Given the description of an element on the screen output the (x, y) to click on. 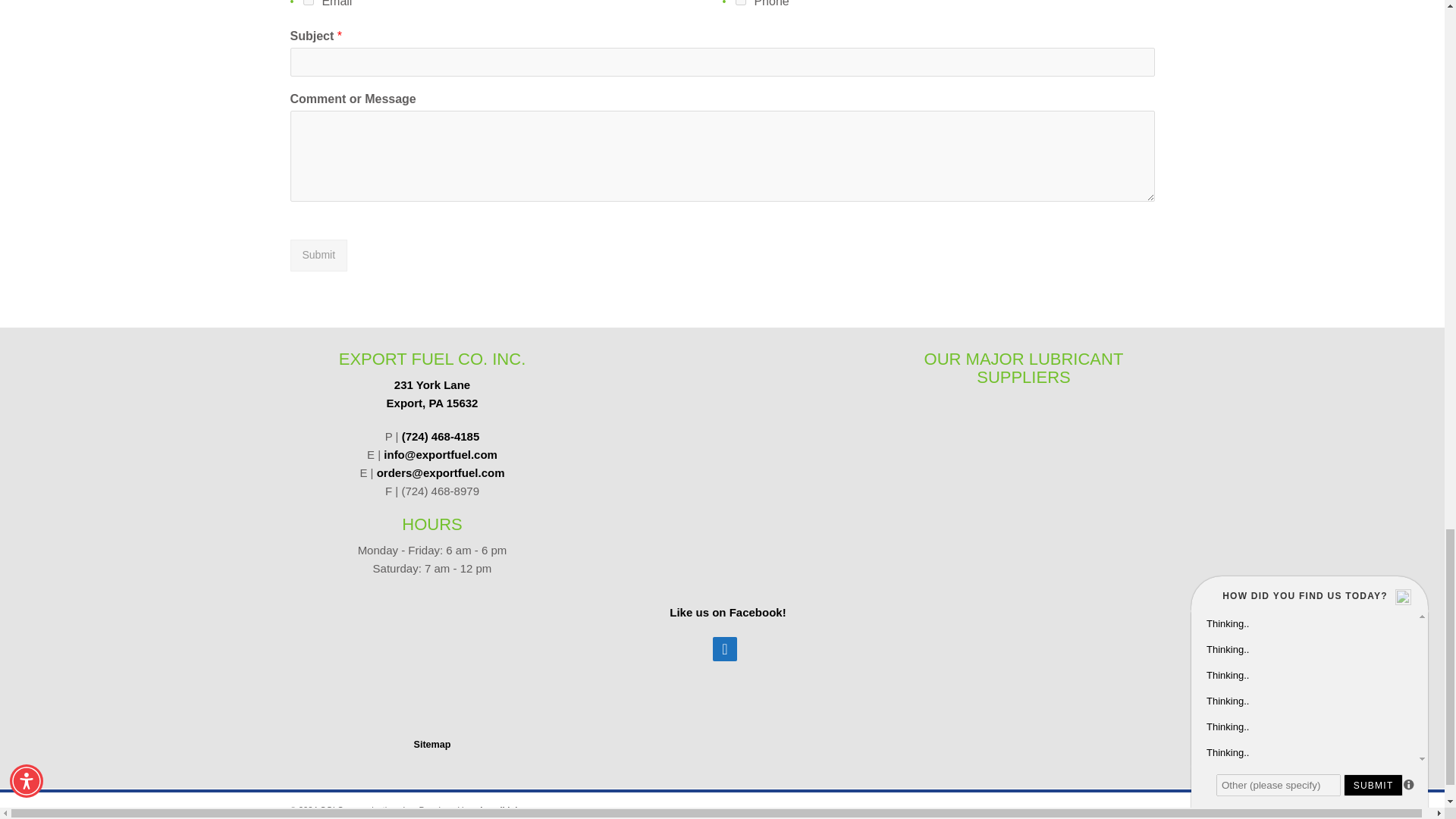
Email (308, 2)
Phone (740, 2)
Sitemap (431, 744)
Submit (433, 393)
Facebook (318, 255)
Like us on Facebook! (724, 648)
